Given the description of an element on the screen output the (x, y) to click on. 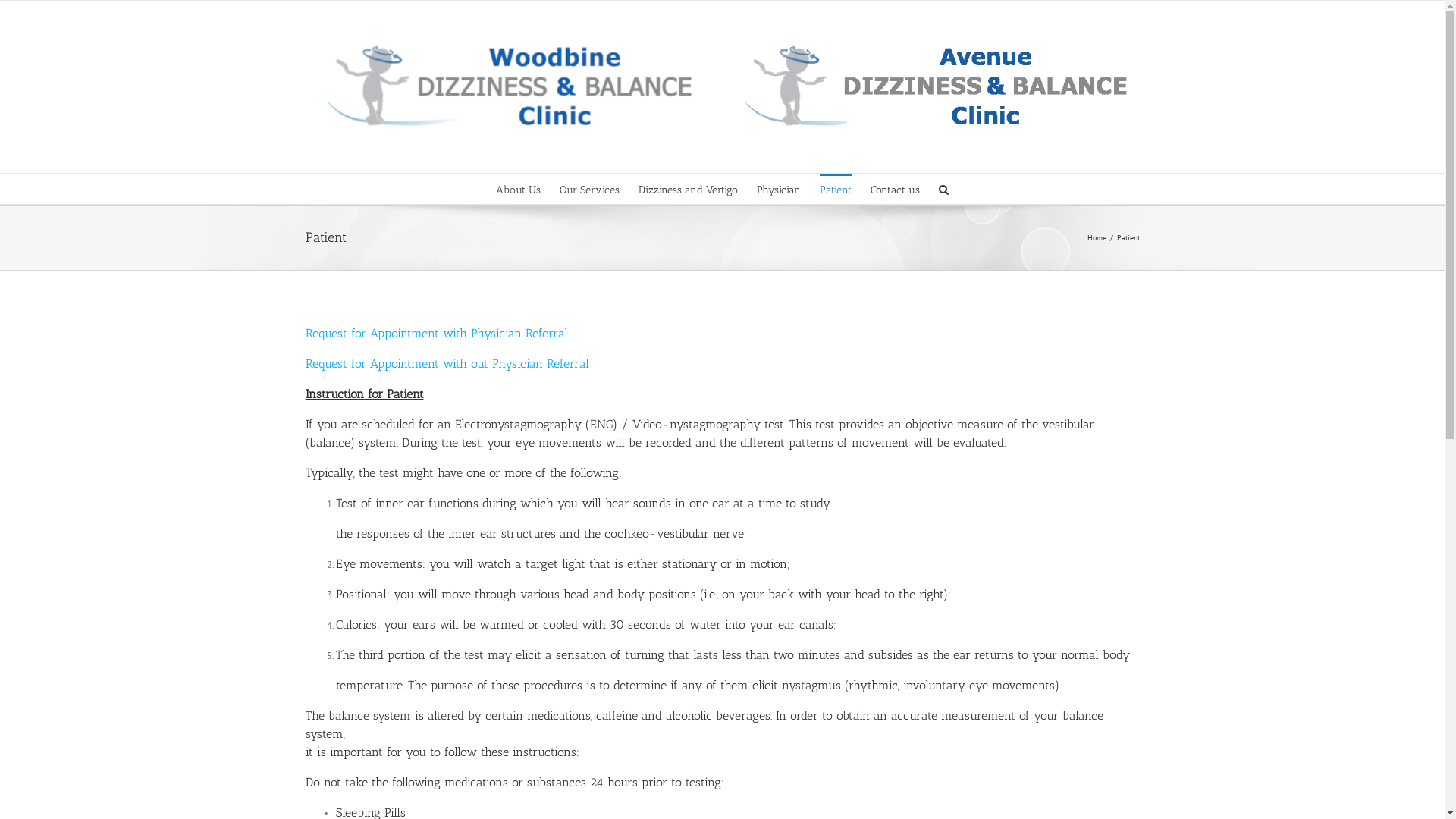
About Us Element type: text (517, 188)
Contact us Element type: text (894, 188)
Home Element type: text (1096, 237)
Dizziness and Vertigo Element type: text (687, 188)
Our Services Element type: text (589, 188)
Patient Element type: text (835, 188)
Request for Appointment with Physician Referral Element type: text (435, 333)
Physician Element type: text (778, 188)
Request for Appointment with out Physician Referral Element type: text (446, 363)
